Given the description of an element on the screen output the (x, y) to click on. 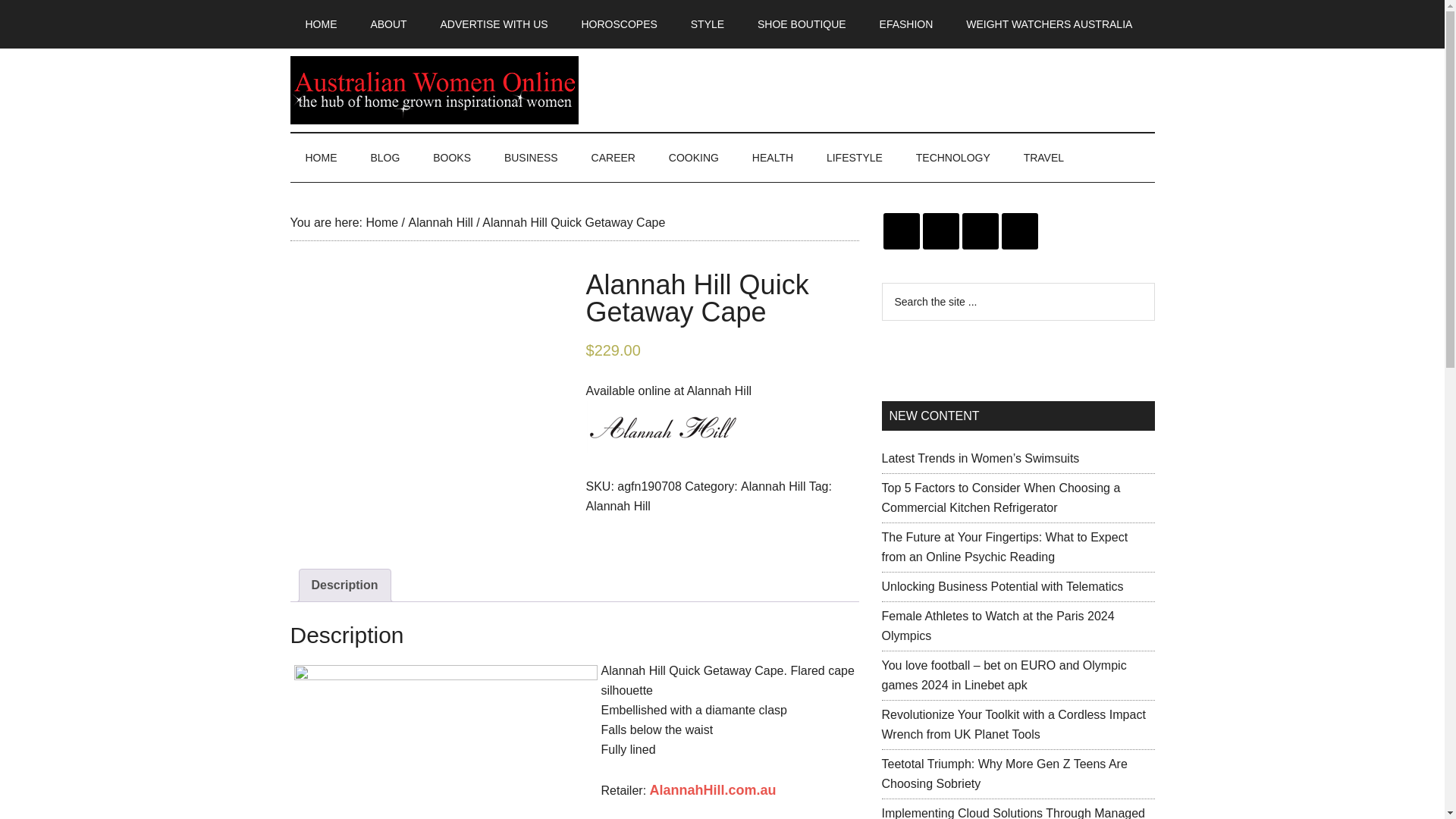
Alannah Hill (773, 485)
Home (381, 222)
Alannah Hill (439, 222)
BUSINESS (531, 157)
Alannah Hill (617, 504)
AlannahHill.com.au (712, 789)
Australian Women Online (433, 90)
HOROSCOPES (618, 24)
TRAVEL (1043, 157)
HOME (320, 24)
LIFESTYLE (854, 157)
STYLE (707, 24)
HOME (320, 157)
